Given the description of an element on the screen output the (x, y) to click on. 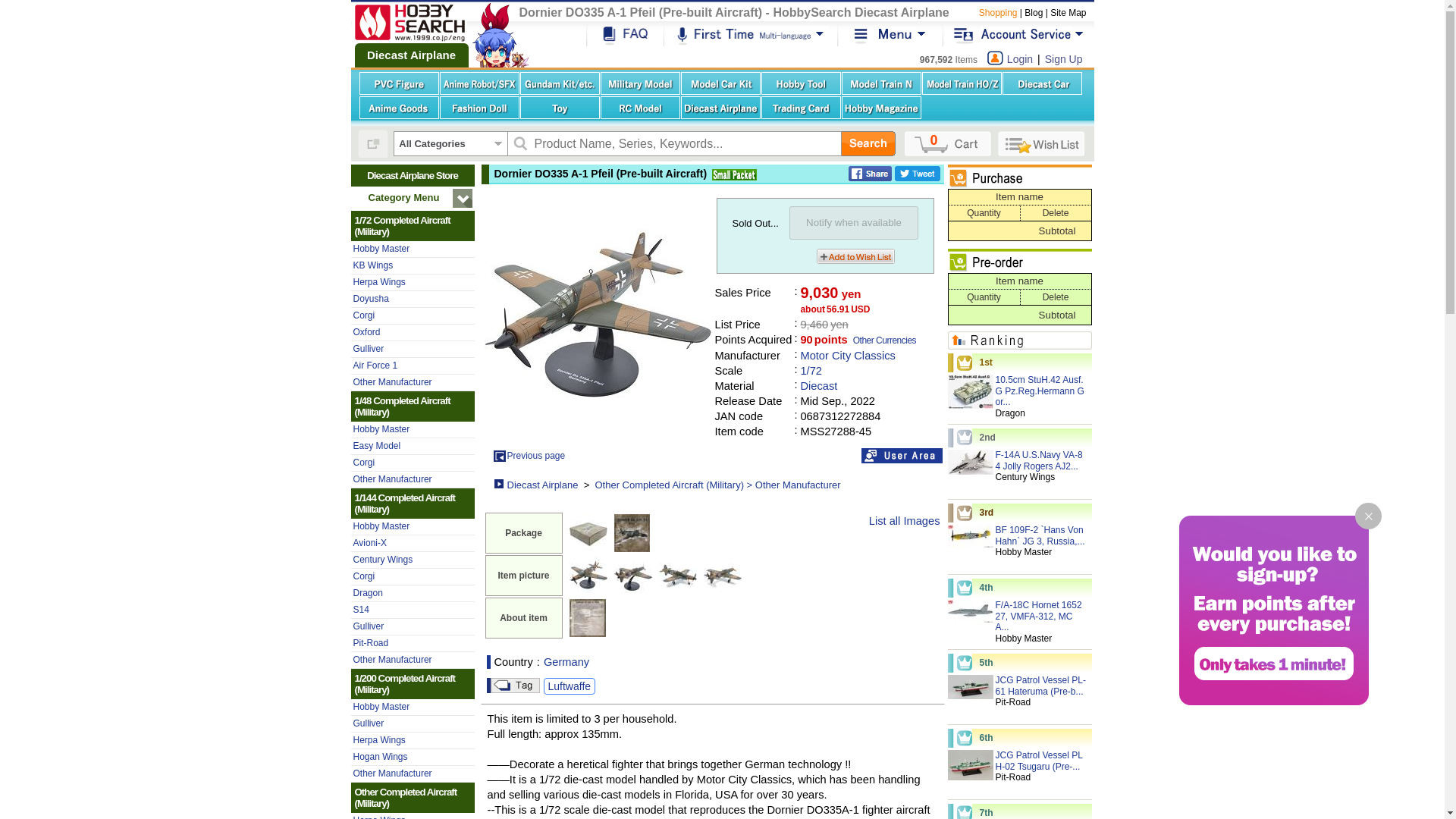
Model Car Kit (720, 83)
Diecast Car (1042, 83)
Trading Card (801, 107)
Model Car Kit (720, 83)
Hobby Magazine (881, 107)
Fashion Doll (479, 107)
Military Model (639, 83)
RC Model (639, 107)
Anime Goods (399, 107)
Site Map (1067, 12)
Toy (559, 107)
Login (1019, 61)
Military Model (639, 83)
Hobby Tool (801, 83)
Toy (559, 107)
